Given the description of an element on the screen output the (x, y) to click on. 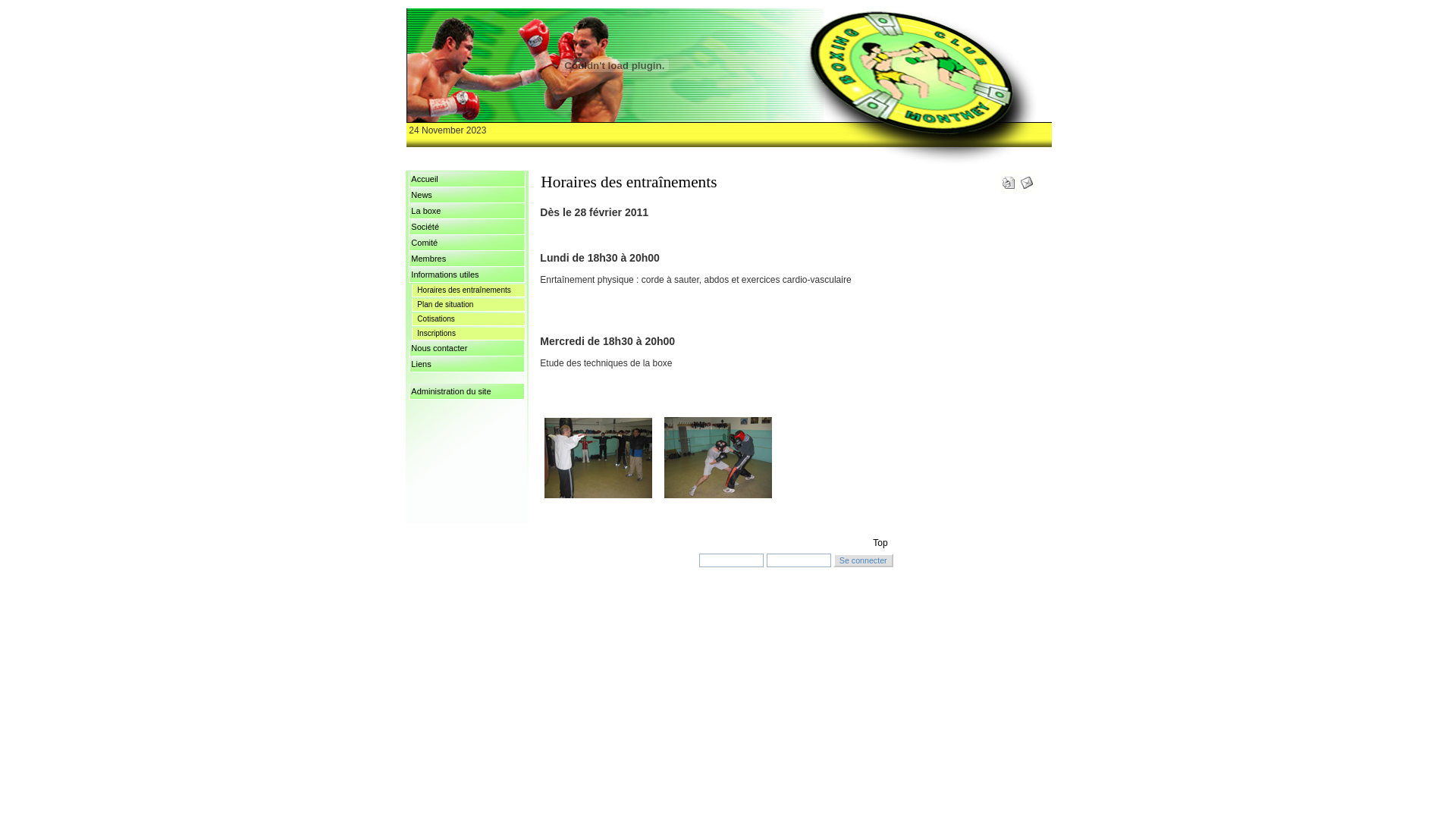
Cotisations Element type: text (468, 319)
Liens Element type: text (466, 364)
La boxe Element type: text (466, 211)
Administration du site Element type: text (466, 391)
Informations utiles Element type: text (466, 274)
Image Element type: hover (598, 457)
Membres Element type: text (466, 258)
Accueil Element type: text (466, 179)
Inscriptions Element type: text (468, 333)
Image Element type: hover (717, 457)
Plan de situation Element type: text (468, 304)
News Element type: text (466, 195)
Top Element type: text (879, 542)
Se connecter Element type: text (863, 560)
Version imprimable Element type: hover (1008, 179)
Nous contacter Element type: text (466, 348)
